Given the description of an element on the screen output the (x, y) to click on. 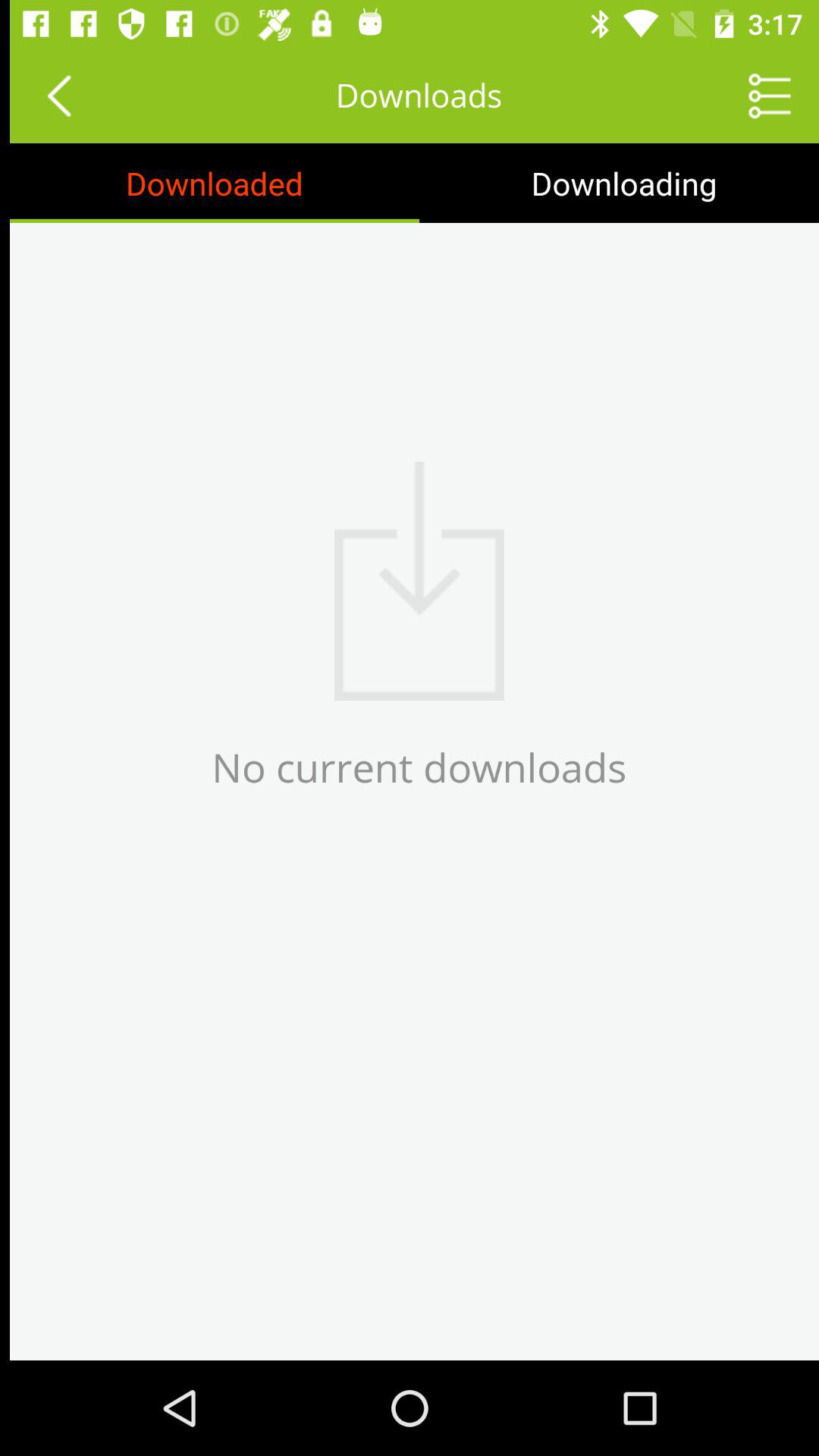
select the item next to the downloads icon (759, 95)
